Given the description of an element on the screen output the (x, y) to click on. 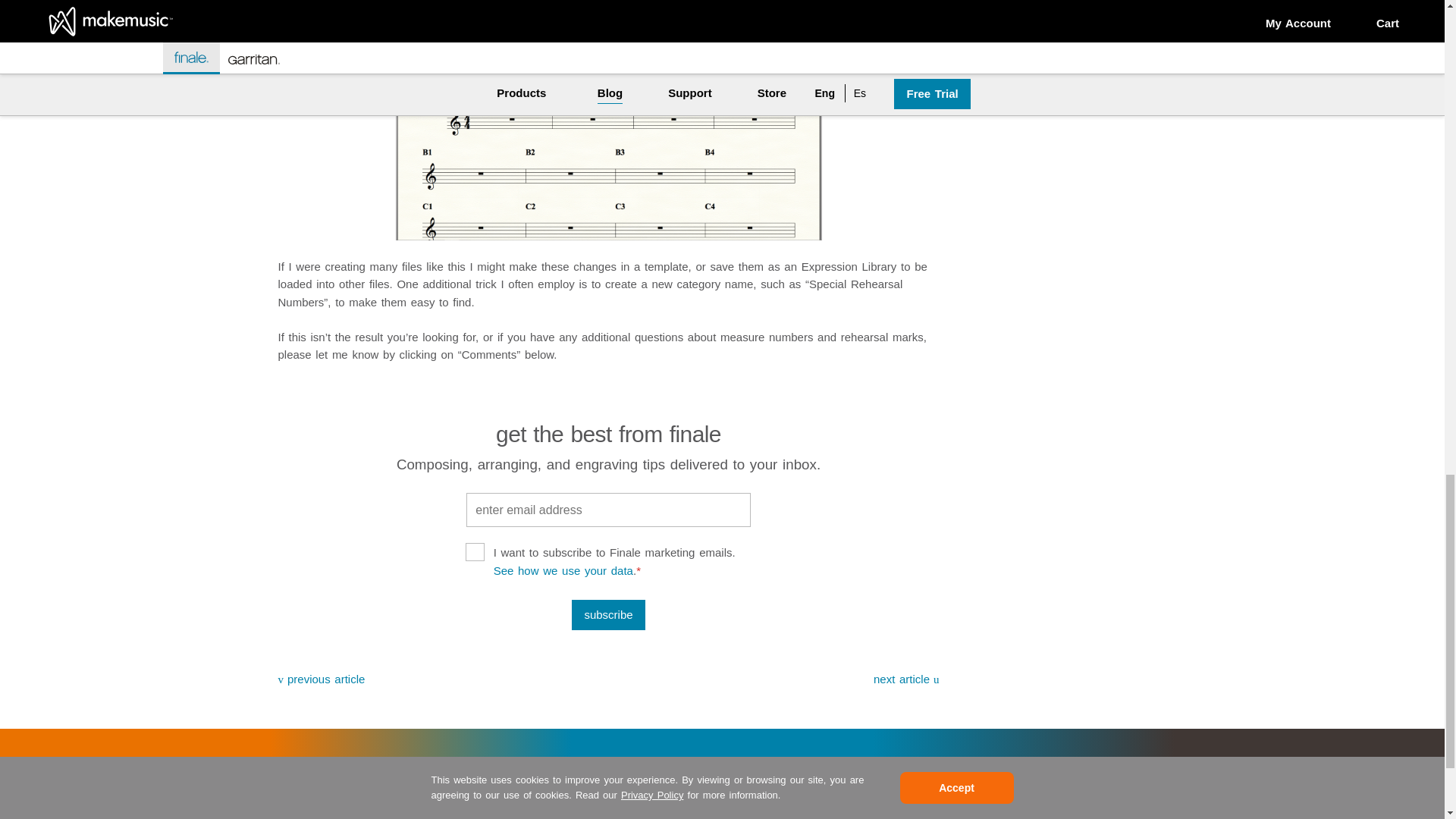
subscribe (608, 614)
